Given the description of an element on the screen output the (x, y) to click on. 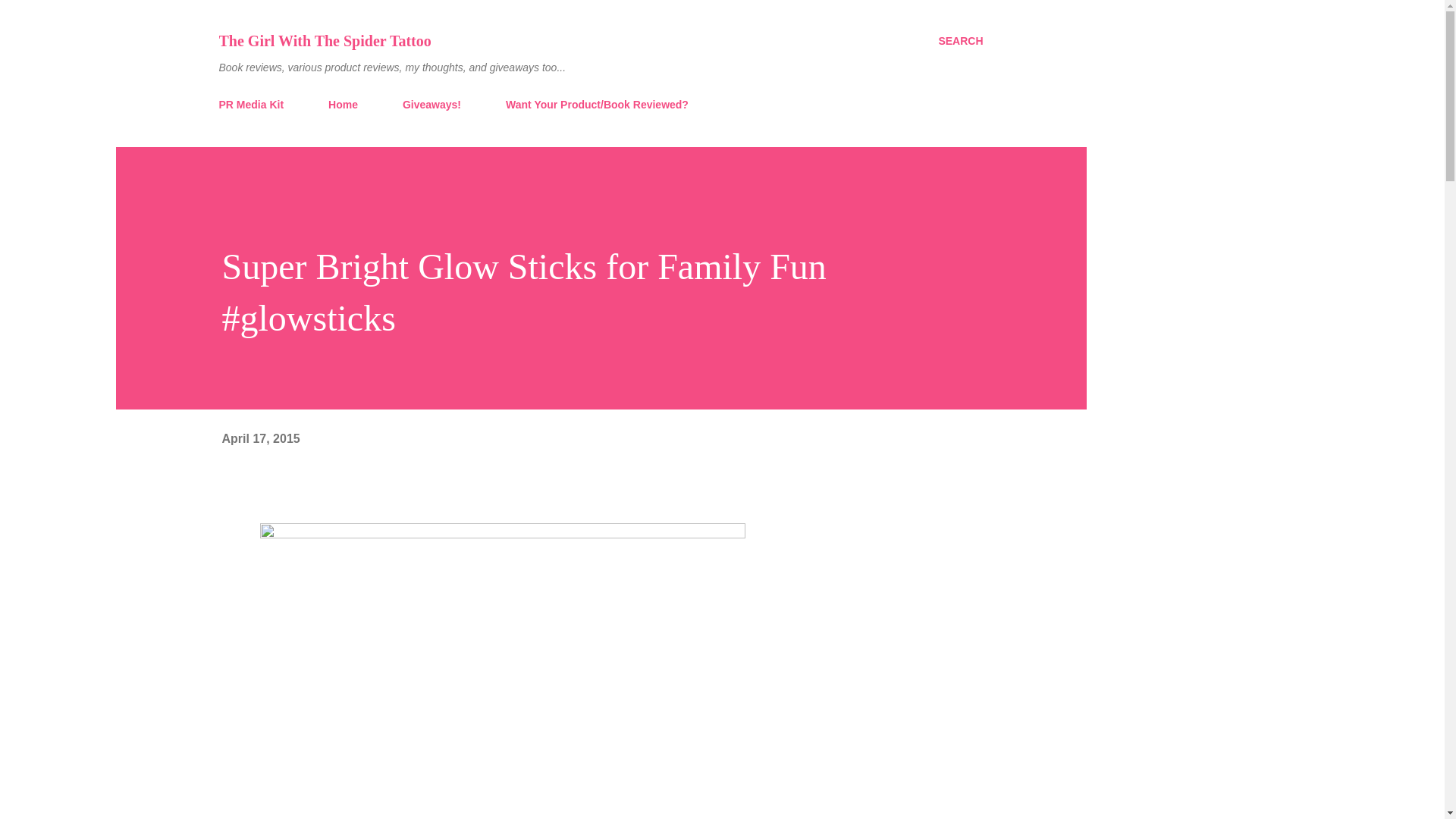
permanent link (260, 438)
April 17, 2015 (260, 438)
Giveaways! (431, 104)
The Girl With The Spider Tattoo (324, 40)
SEARCH (959, 40)
PR Media Kit (255, 104)
Home (342, 104)
